Given the description of an element on the screen output the (x, y) to click on. 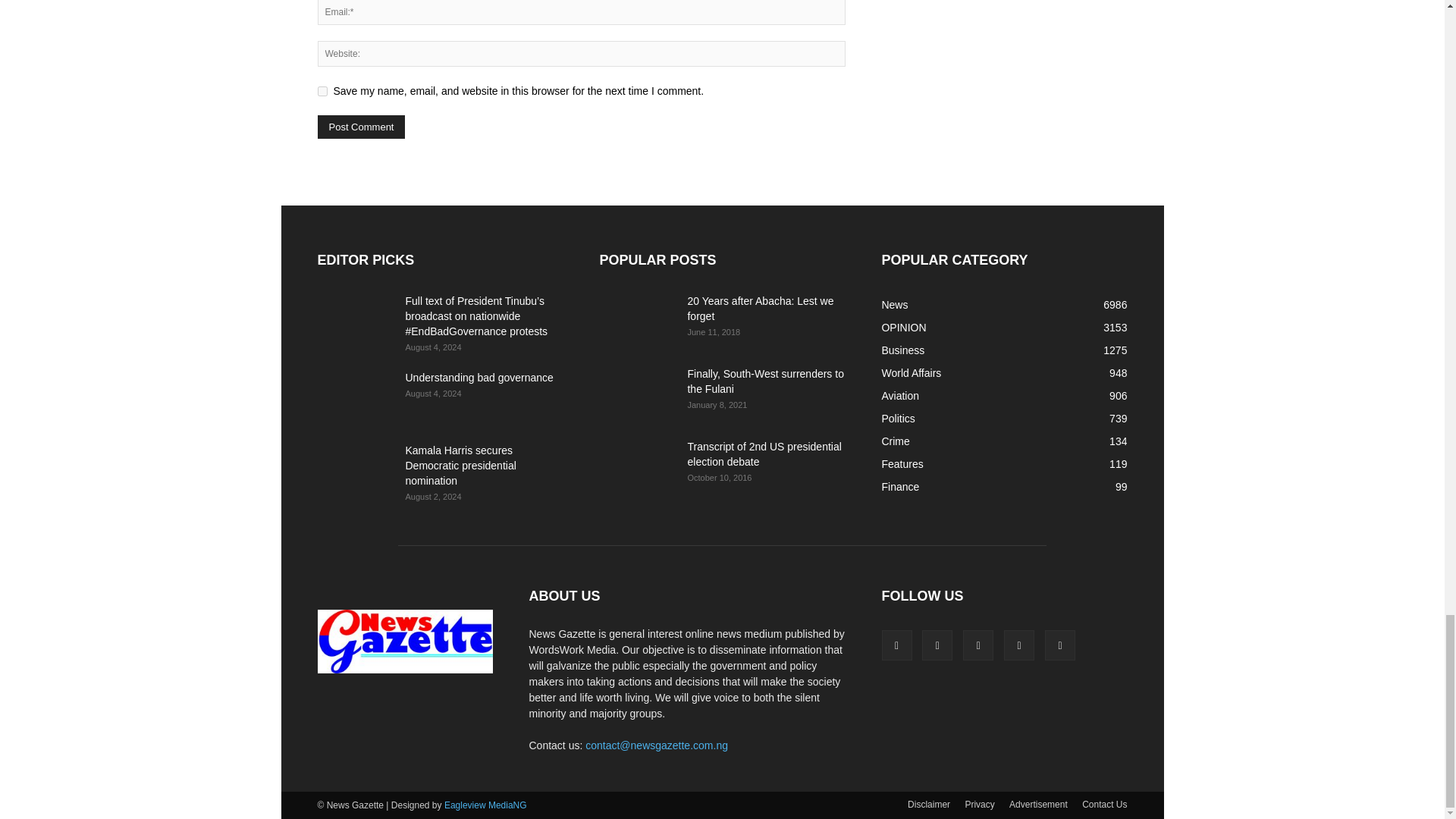
yes (321, 91)
Post Comment (360, 126)
